Given the description of an element on the screen output the (x, y) to click on. 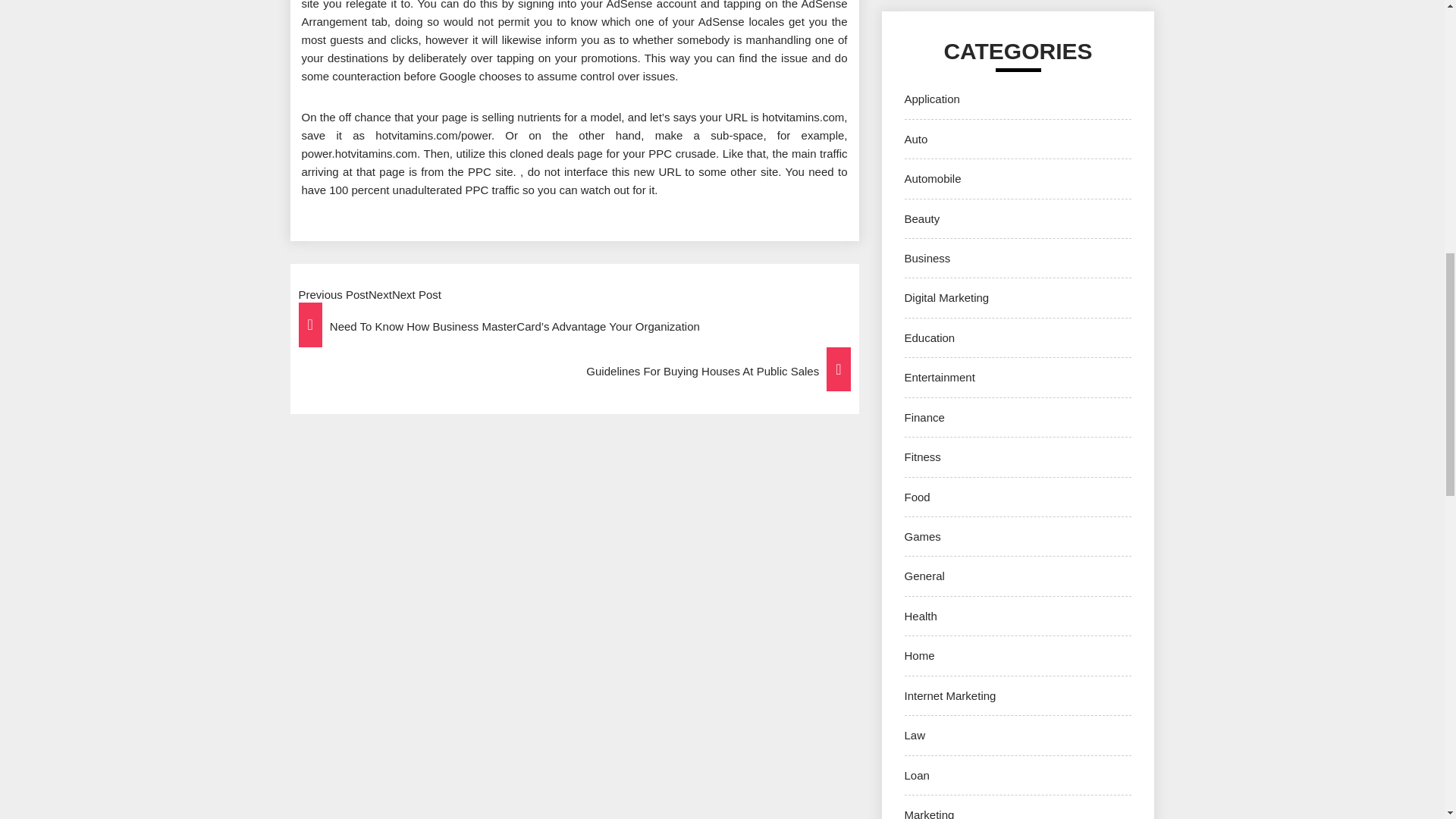
Games (922, 535)
Digital Marketing (946, 297)
Law (914, 735)
Health (920, 615)
General (923, 575)
Beauty (921, 218)
Business (927, 257)
Automobile (932, 178)
Education (929, 337)
Food (917, 496)
